Given the description of an element on the screen output the (x, y) to click on. 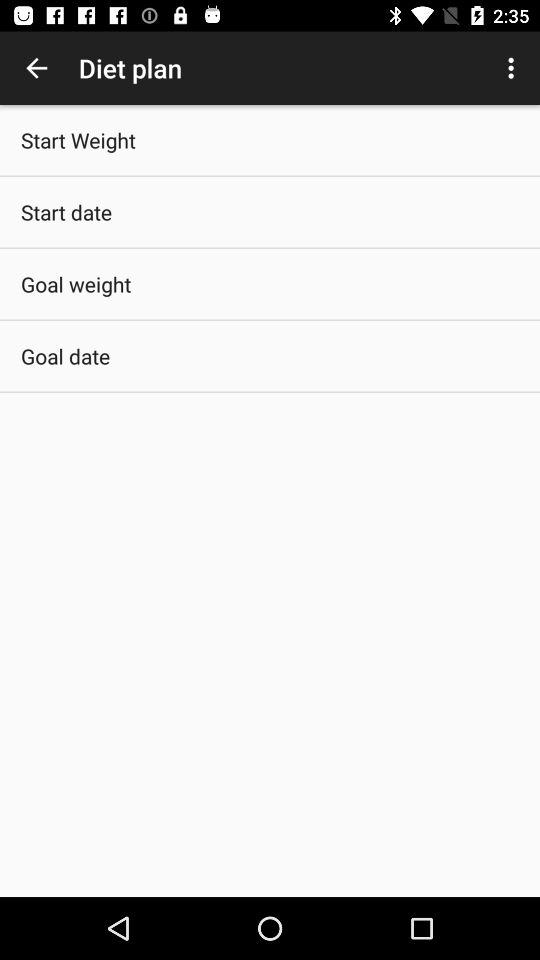
choose item above start weight (36, 68)
